Given the description of an element on the screen output the (x, y) to click on. 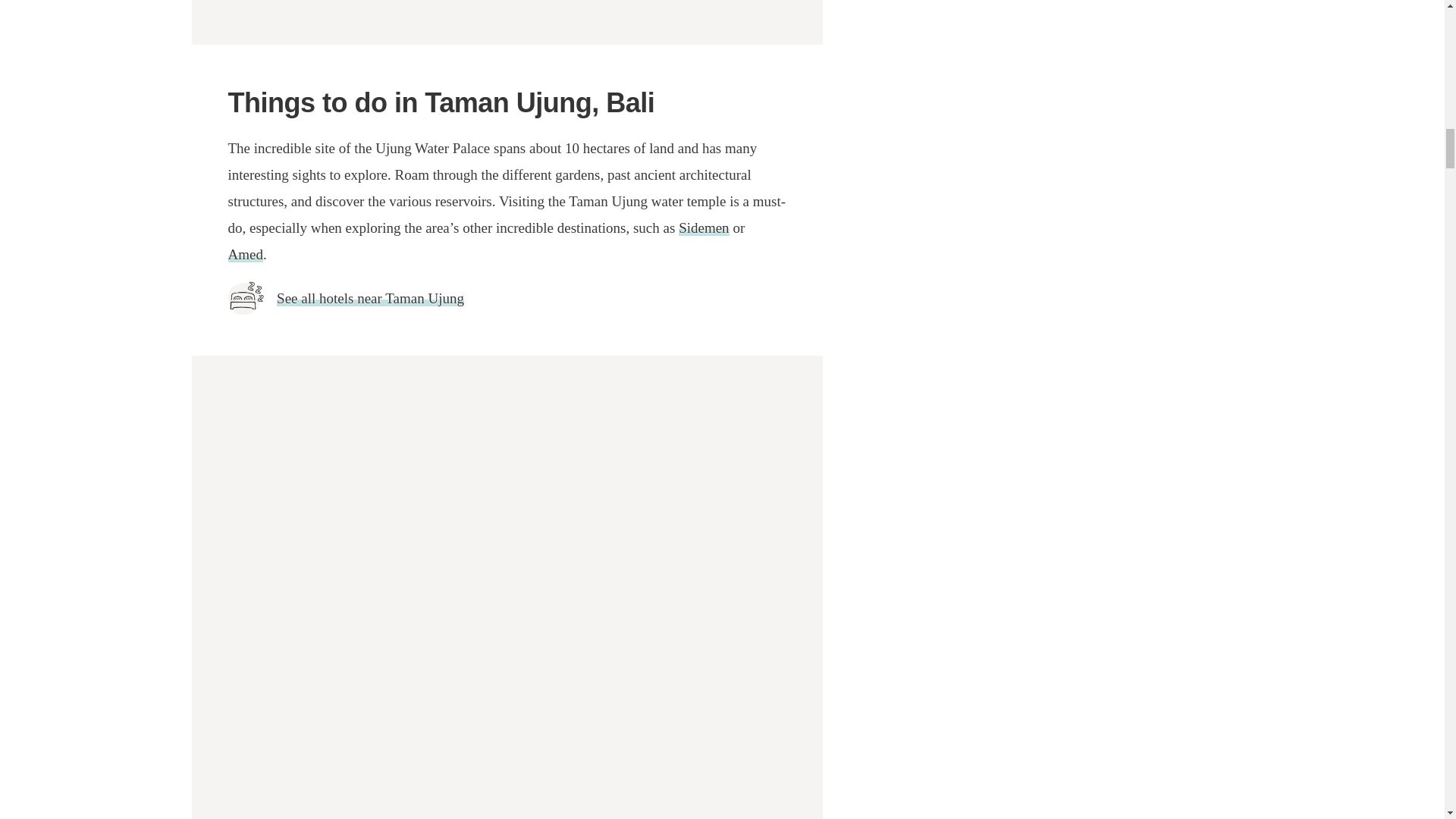
See all hotels near Taman Ujung (370, 298)
Sidemen (703, 227)
Amed (244, 254)
